Given the description of an element on the screen output the (x, y) to click on. 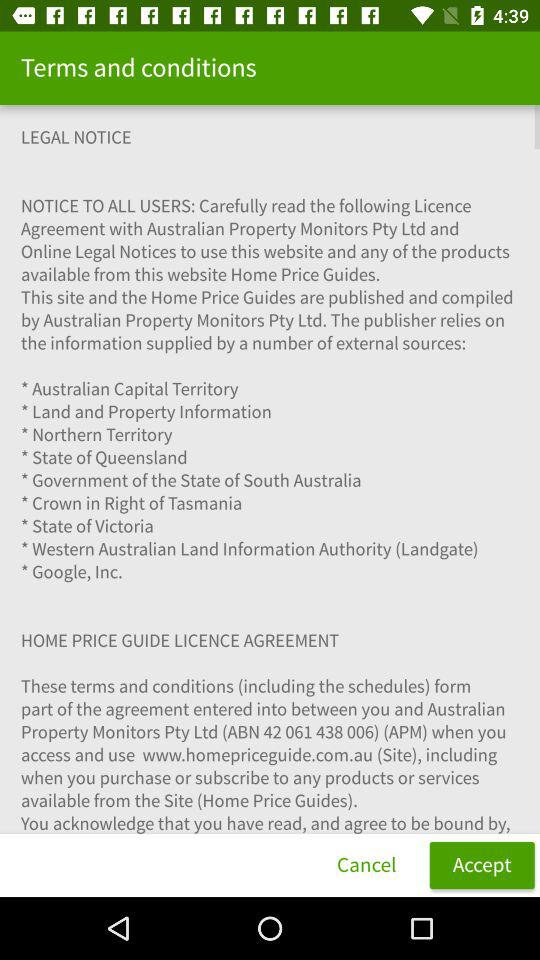
turn on item to the left of the accept item (366, 864)
